Given the description of an element on the screen output the (x, y) to click on. 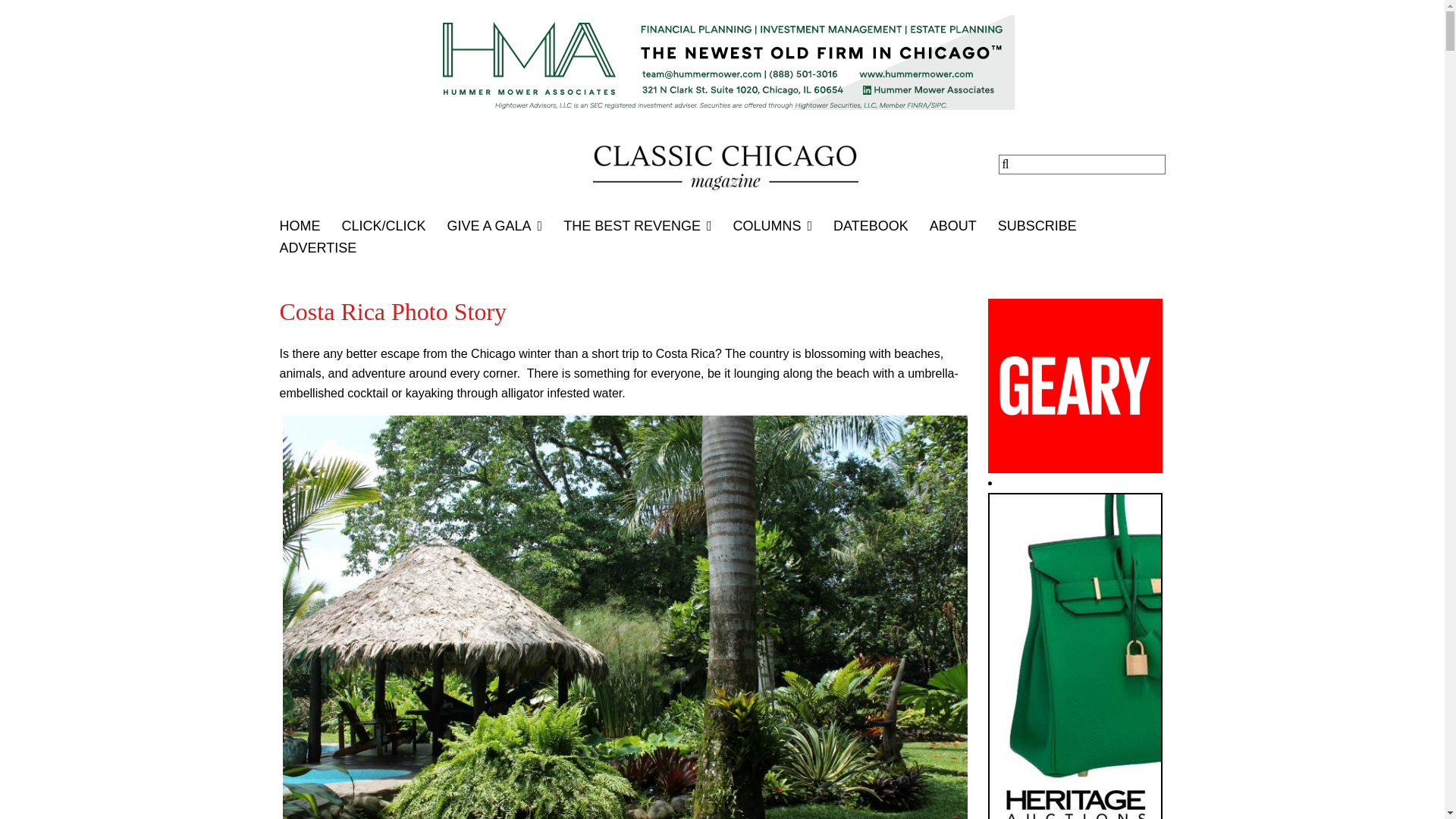
COLUMNS (782, 226)
GIVE A GALA (505, 226)
THE BEST REVENGE (647, 226)
HOME (309, 226)
